Given the description of an element on the screen output the (x, y) to click on. 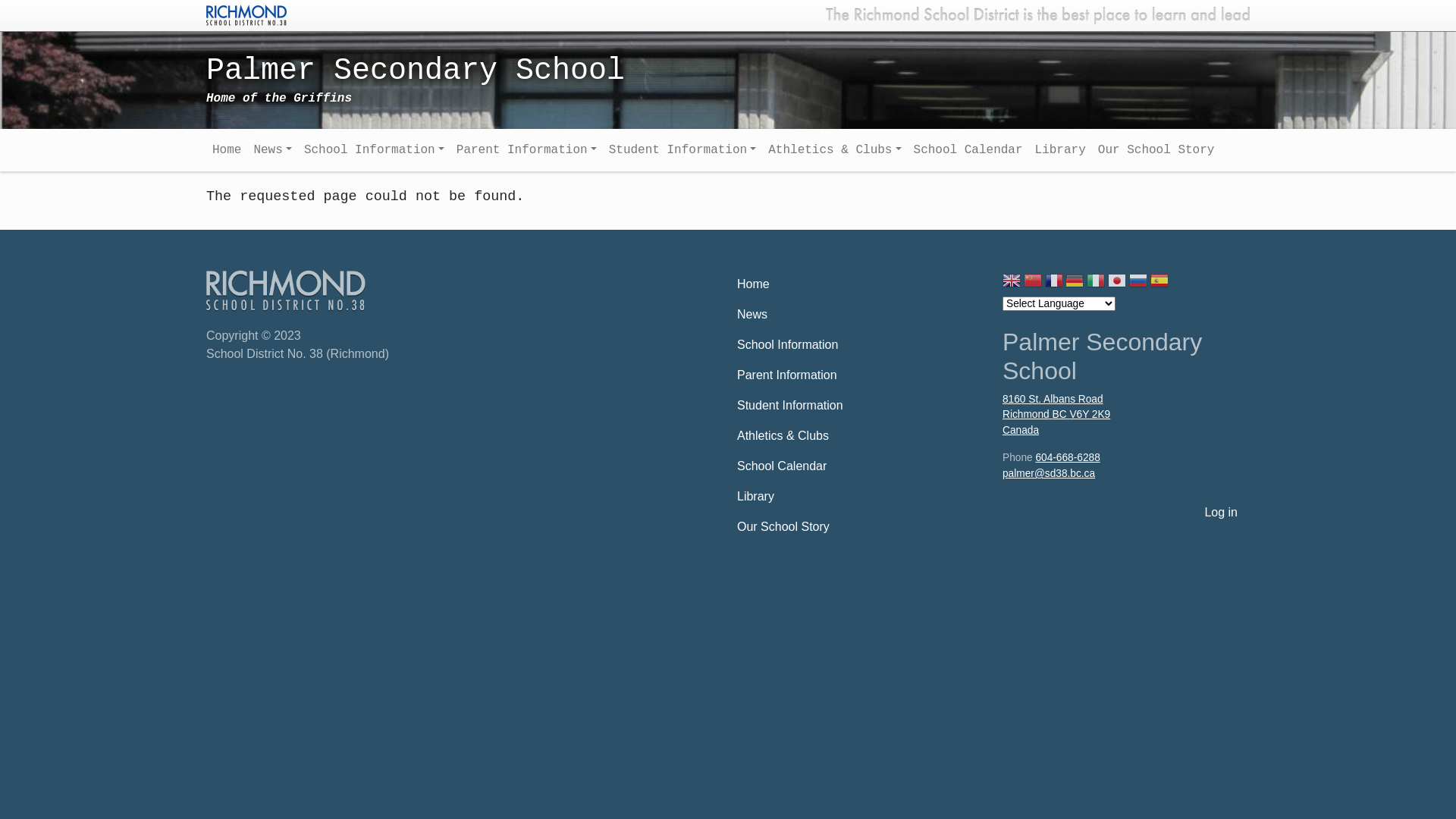
Student Information Element type: text (860, 405)
Italian Element type: hover (1095, 282)
palmer@sd38.bc.ca Element type: text (1048, 473)
Palmer Secondary School Element type: text (595, 79)
Athletics & Clubs Element type: text (860, 435)
French Element type: hover (1053, 282)
School District No. 38 (Richmond) Element type: hover (286, 288)
English Element type: hover (1011, 282)
School Calendar Element type: text (968, 149)
Japanese Element type: hover (1116, 282)
Parent Information Element type: text (860, 375)
School Calendar Element type: text (860, 466)
Library Element type: text (1060, 149)
School Information Element type: text (860, 344)
Athletics & Clubs Element type: text (834, 149)
Our School Story Element type: text (860, 526)
8160 St. Albans Road
Richmond BC V6Y 2K9
Canada Element type: text (1125, 415)
News Element type: text (860, 314)
Library Element type: text (860, 496)
German Element type: hover (1074, 282)
Student Information Element type: text (682, 149)
Chinese (Simplified) Element type: hover (1032, 282)
District Logo Element type: text (246, 13)
School Information Element type: text (374, 149)
Home Element type: text (226, 149)
Spanish Element type: hover (1159, 282)
604-668-6288 Element type: text (1067, 457)
Our School Story Element type: text (1156, 149)
News Element type: text (272, 149)
Russian Element type: hover (1138, 282)
Log in Element type: text (1220, 512)
Parent Information Element type: text (526, 149)
Home Element type: text (860, 284)
